Given the description of an element on the screen output the (x, y) to click on. 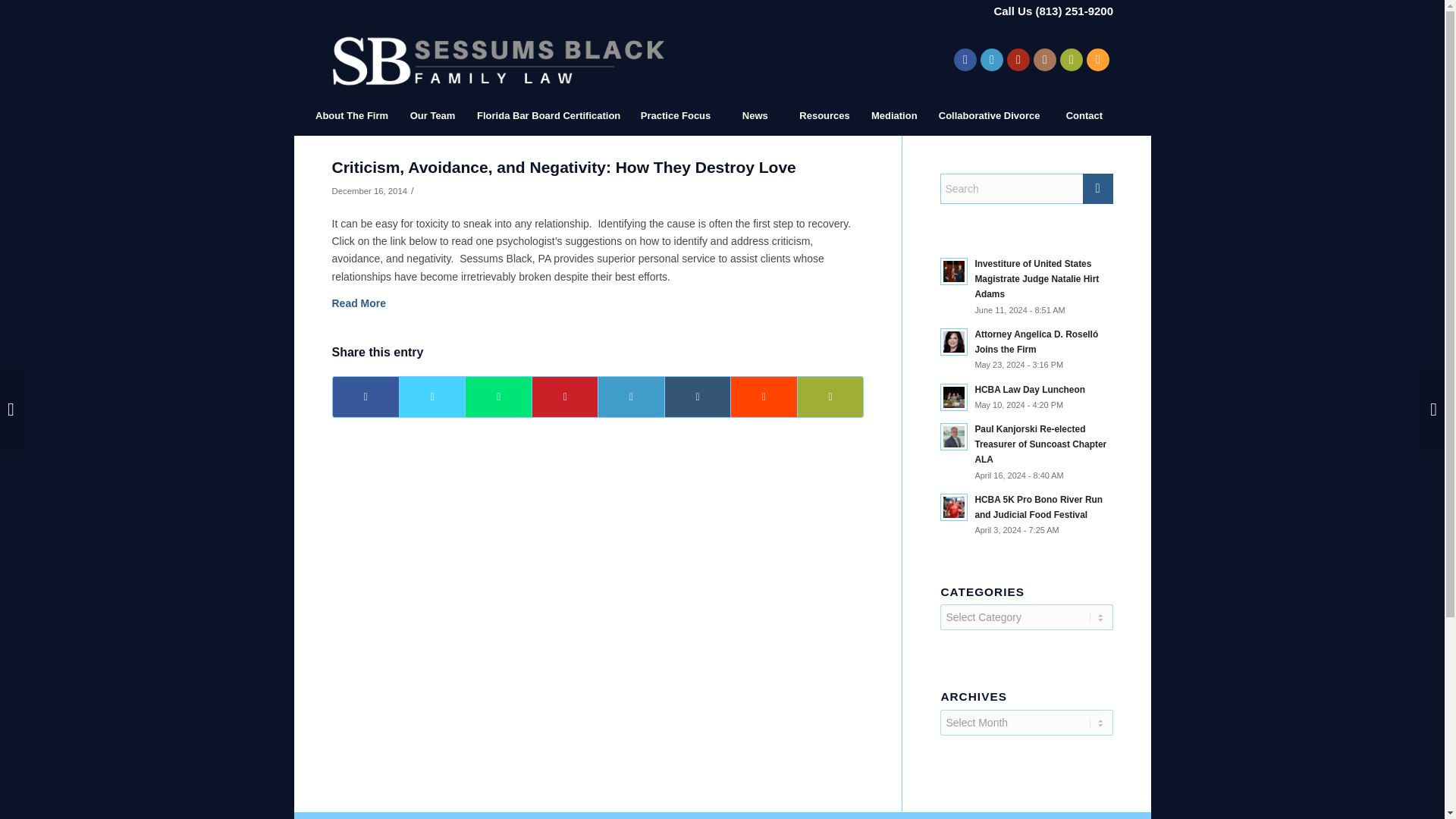
News (754, 116)
Practice Focus (675, 116)
Our Team (431, 116)
About The Firm (350, 116)
Florida Bar Board Certification (547, 116)
